Given the description of an element on the screen output the (x, y) to click on. 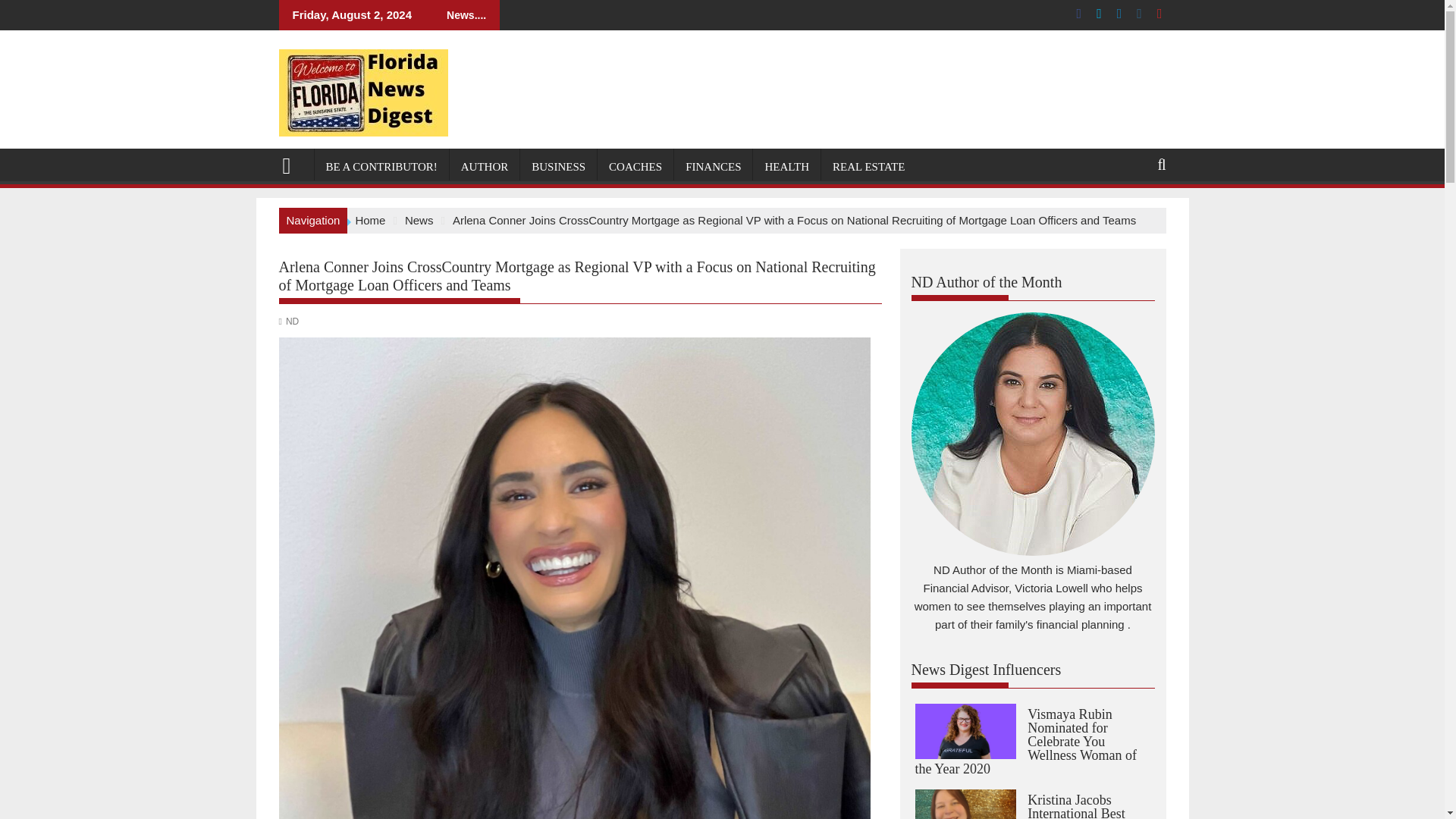
BE A CONTRIBUTOR! (381, 166)
FINANCES (713, 166)
News (418, 220)
AUTHOR (484, 166)
News Digest (293, 163)
Home (370, 220)
BUSINESS (557, 166)
ND (291, 321)
COACHES (634, 166)
REAL ESTATE (868, 166)
